Given the description of an element on the screen output the (x, y) to click on. 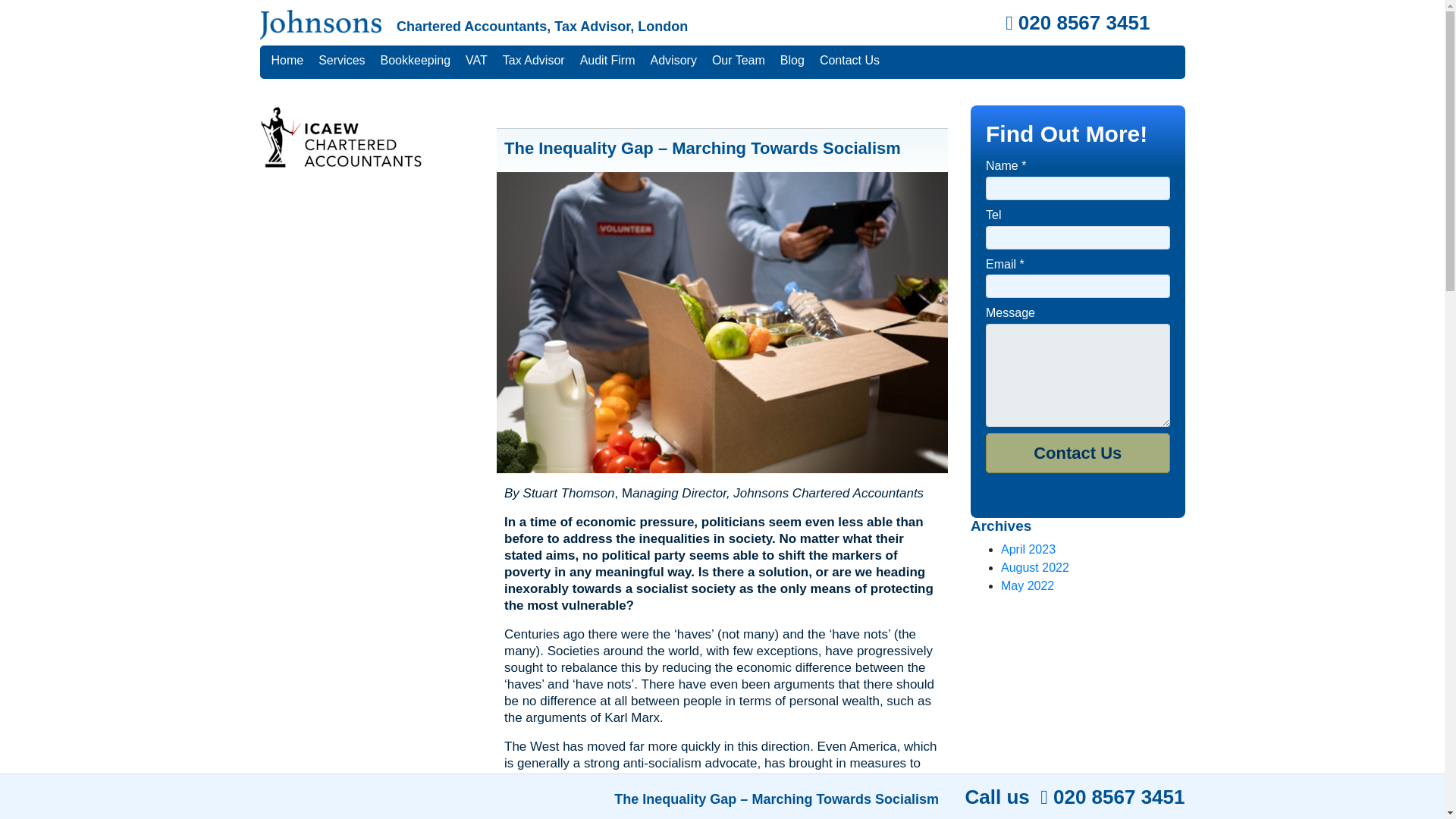
Contact Us (1077, 453)
August 2022 (1034, 567)
Services (341, 61)
Tax Advisor (533, 61)
Audit Firm (606, 61)
May 2022 (1027, 585)
020 8567 3451 (1078, 22)
Contact Us (1077, 453)
April 2023 (1028, 549)
Blog (792, 61)
Our Team (738, 61)
Home (287, 61)
Bookkeeping (415, 61)
Contact Us (849, 61)
VAT (476, 61)
